Given the description of an element on the screen output the (x, y) to click on. 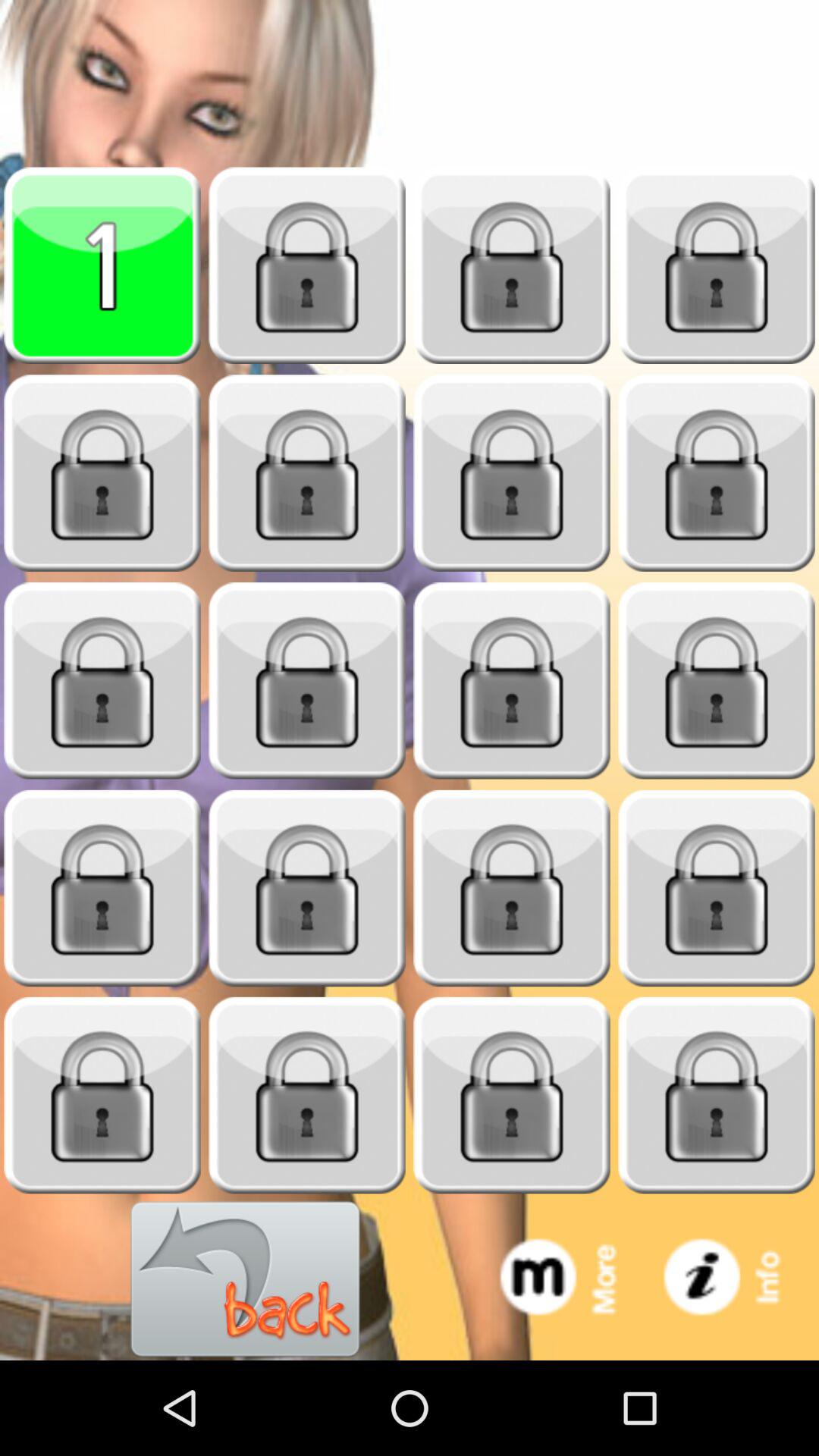
go to icone button (737, 1279)
